Given the description of an element on the screen output the (x, y) to click on. 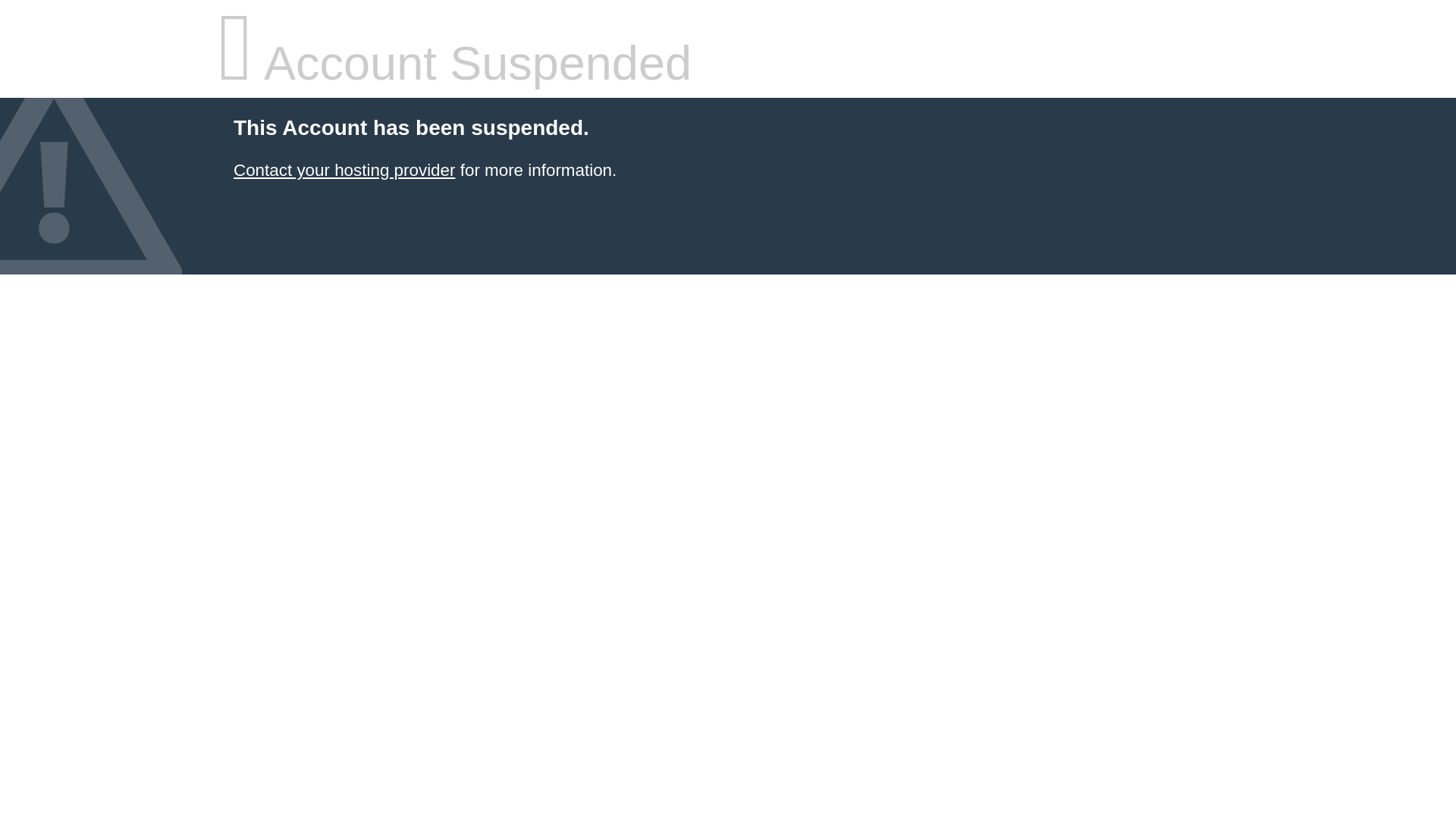
Contact your hosting provider (343, 169)
